Given the description of an element on the screen output the (x, y) to click on. 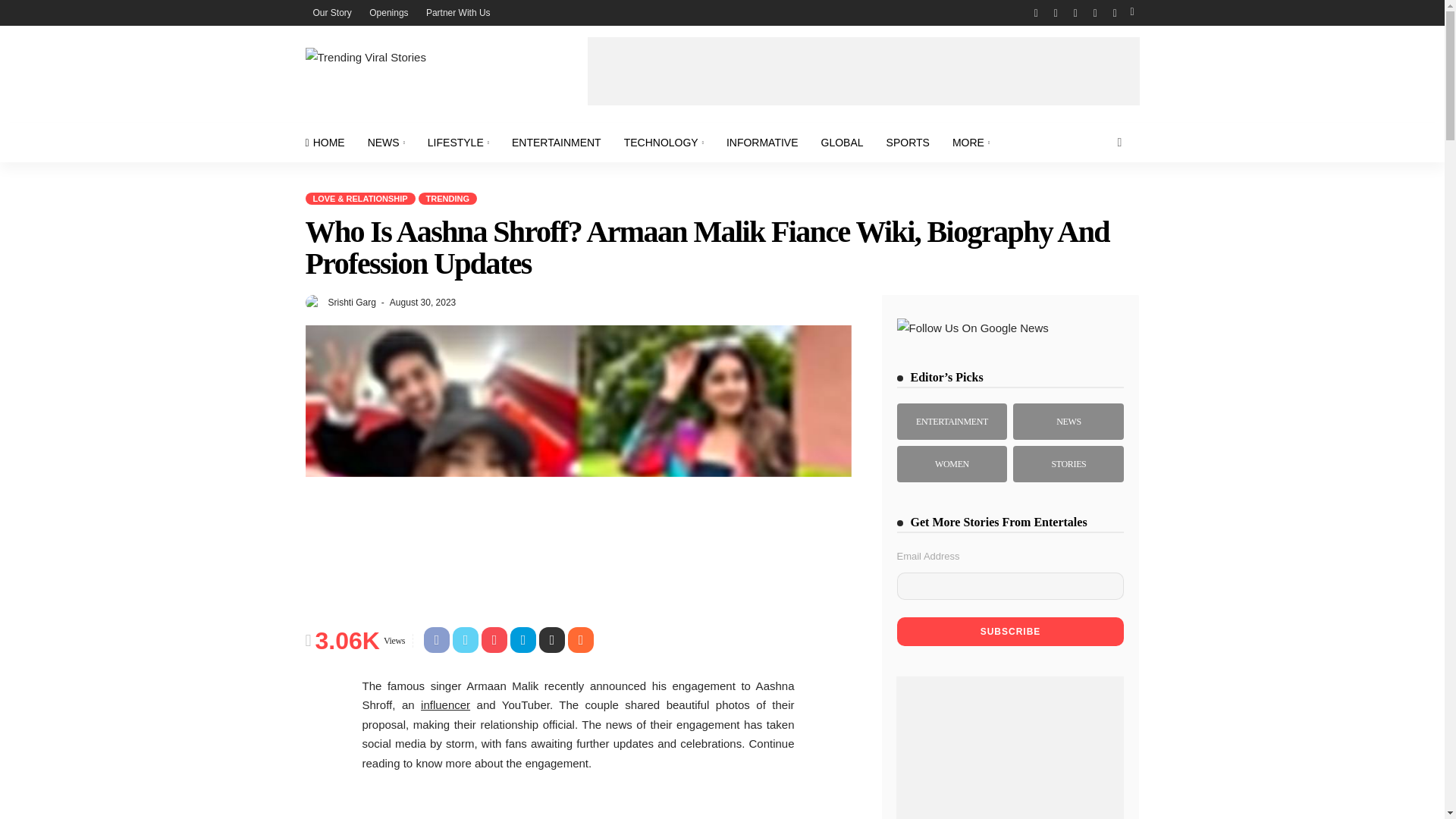
Openings (387, 12)
Subscribe (1010, 631)
Partner With Us (458, 12)
Our Story (331, 12)
